Given the description of an element on the screen output the (x, y) to click on. 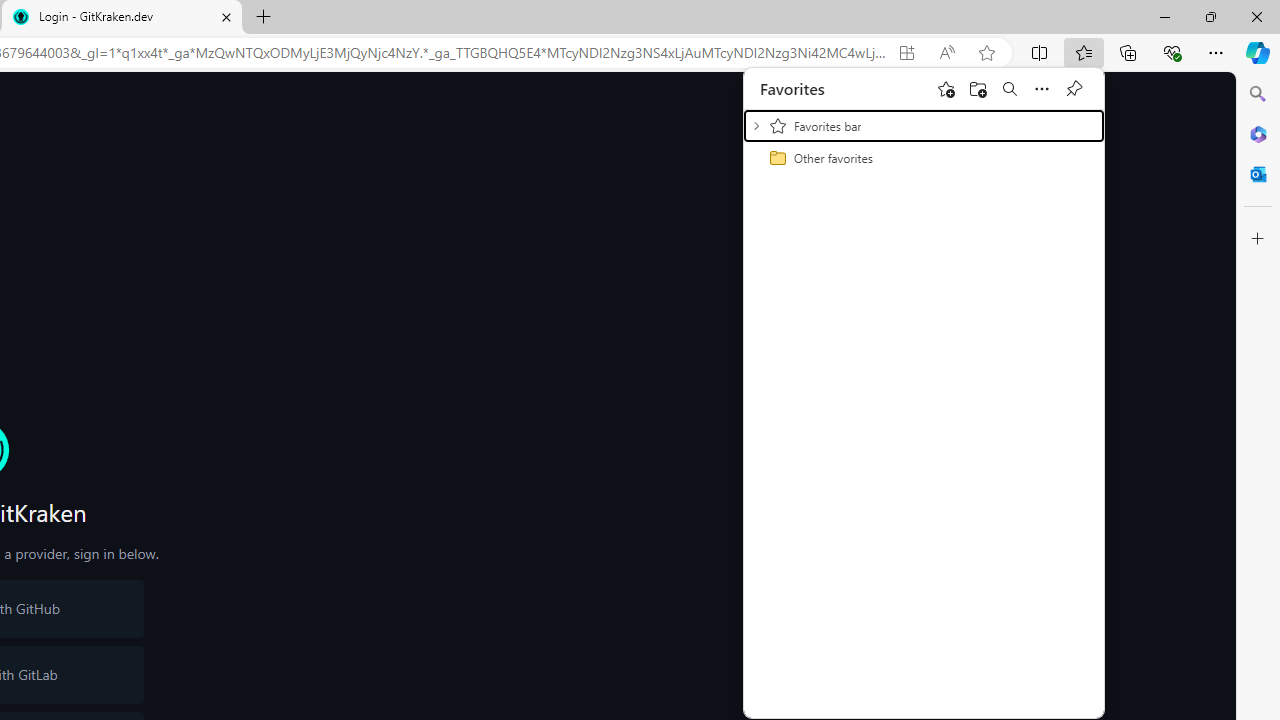
Add this page to favorites (945, 88)
Search favorites (1009, 88)
Pin favorites (1073, 88)
